Given the description of an element on the screen output the (x, y) to click on. 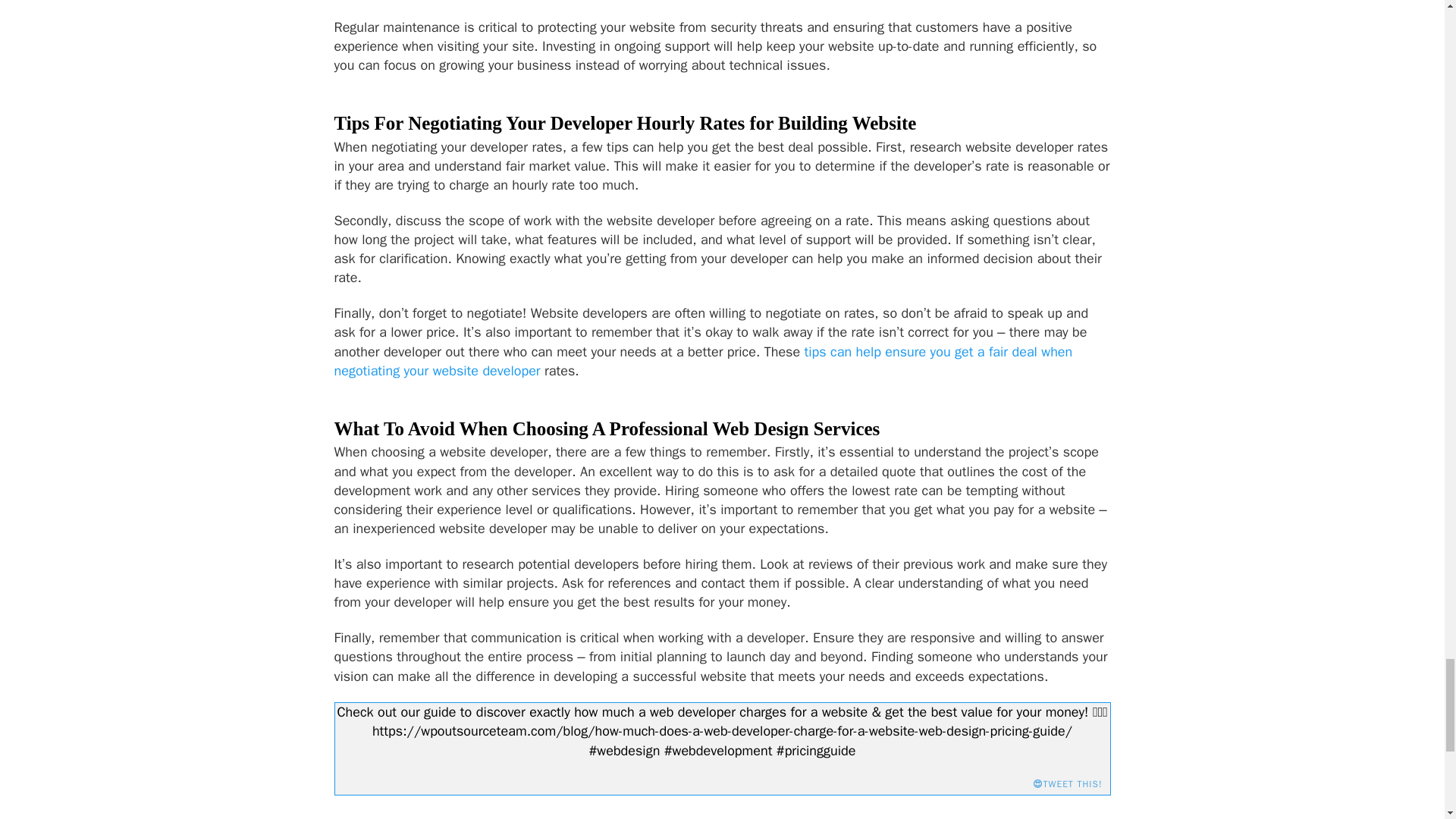
Top Tips for Software Development Team Best Practices (702, 361)
